Given the description of an element on the screen output the (x, y) to click on. 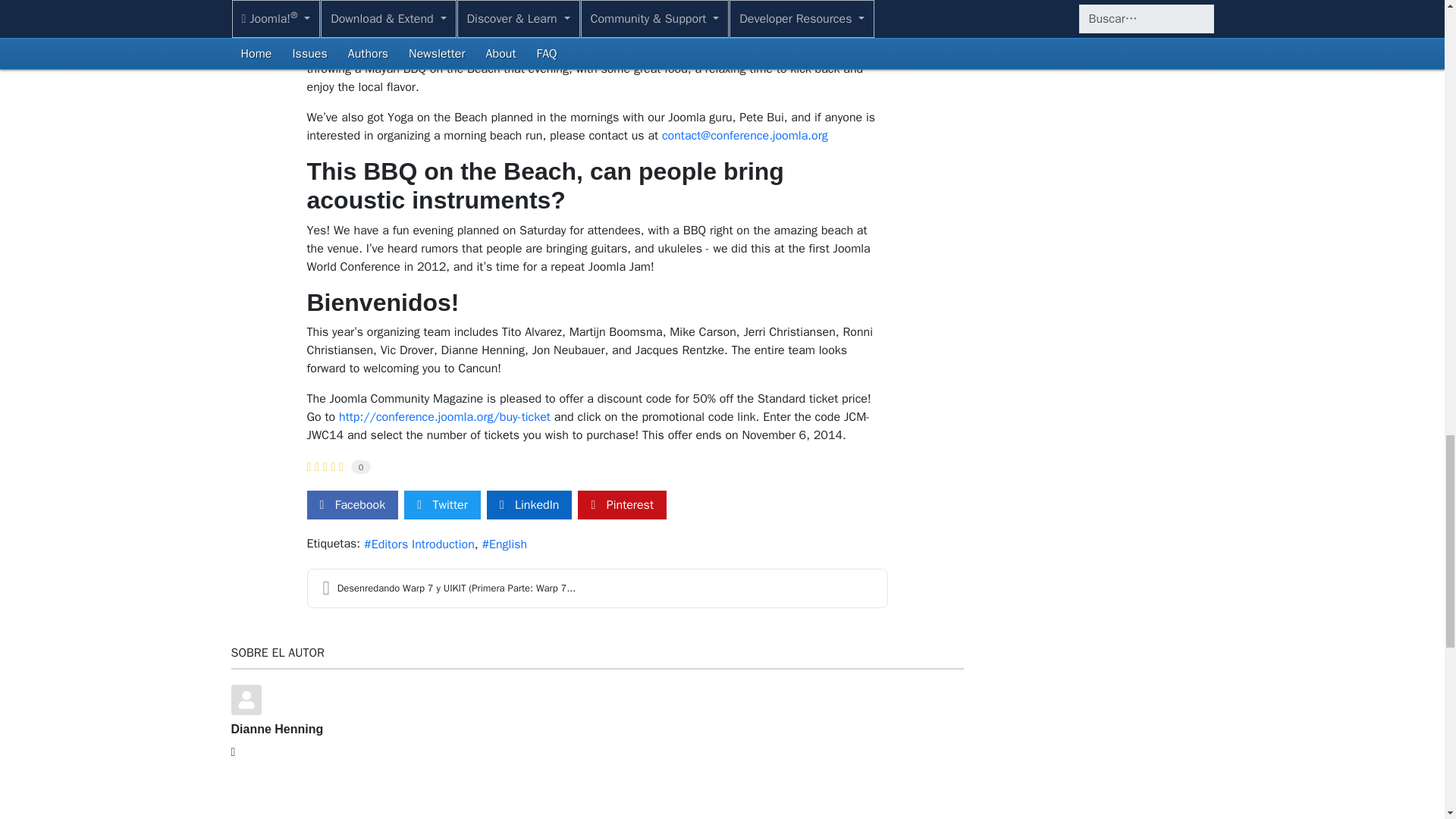
Not rated yet! (323, 467)
Not rated yet! (341, 467)
Not rated yet! (332, 467)
Not rated yet! (316, 467)
0 Votos (360, 467)
Not rated yet! (308, 467)
Advertisement (596, 789)
Not rated yet! (325, 467)
